Given the description of an element on the screen output the (x, y) to click on. 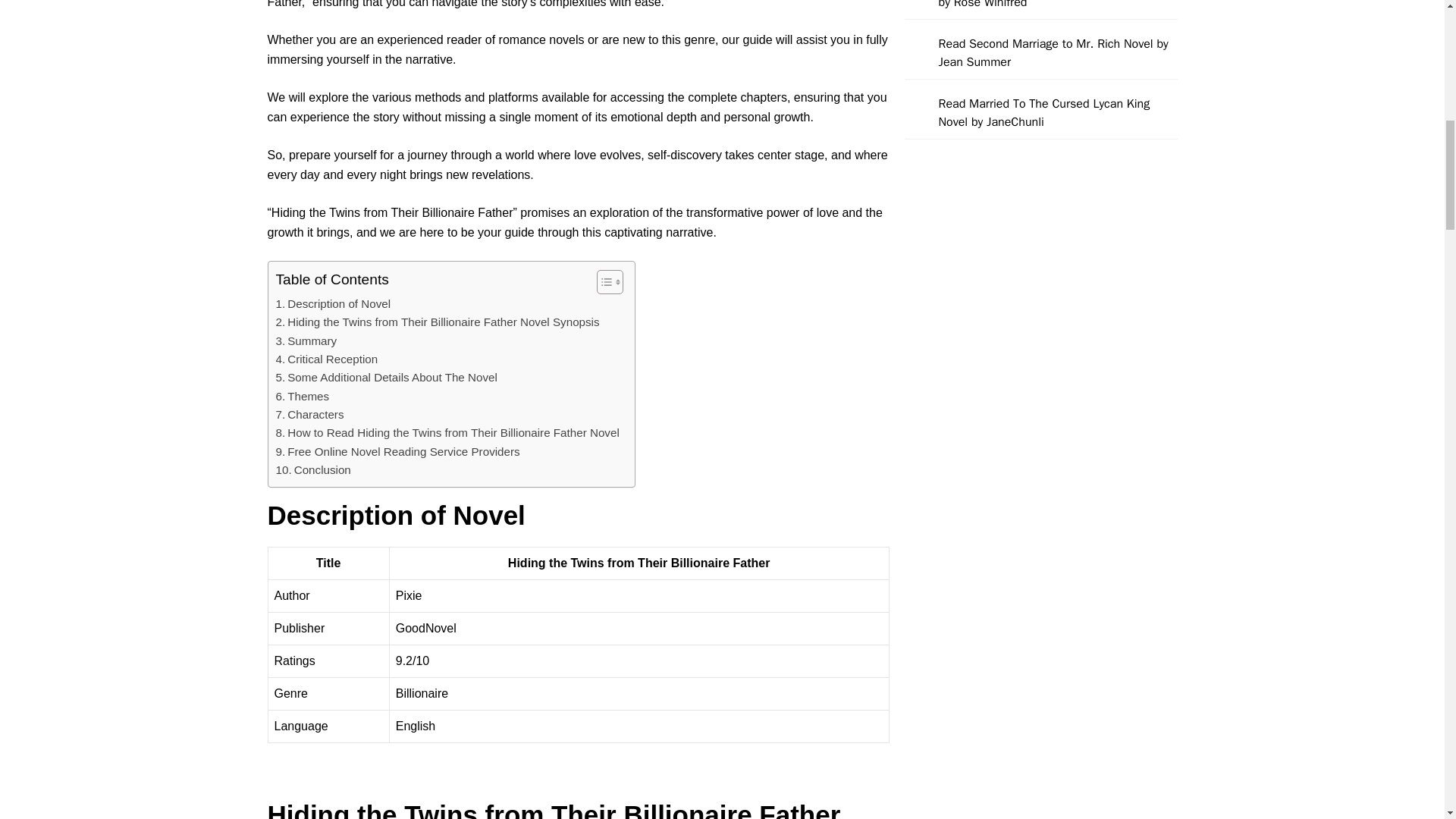
Characters (309, 414)
Free Online Novel Reading Service Providers (397, 452)
Free Online Novel Reading Service Providers (397, 452)
Themes (303, 396)
Summary (306, 341)
Critical Reception (327, 359)
Conclusion (313, 470)
Critical Reception (327, 359)
Some Additional Details About The Novel (386, 377)
Some Additional Details About The Novel (386, 377)
Description of Novel (333, 303)
Themes (303, 396)
